Given the description of an element on the screen output the (x, y) to click on. 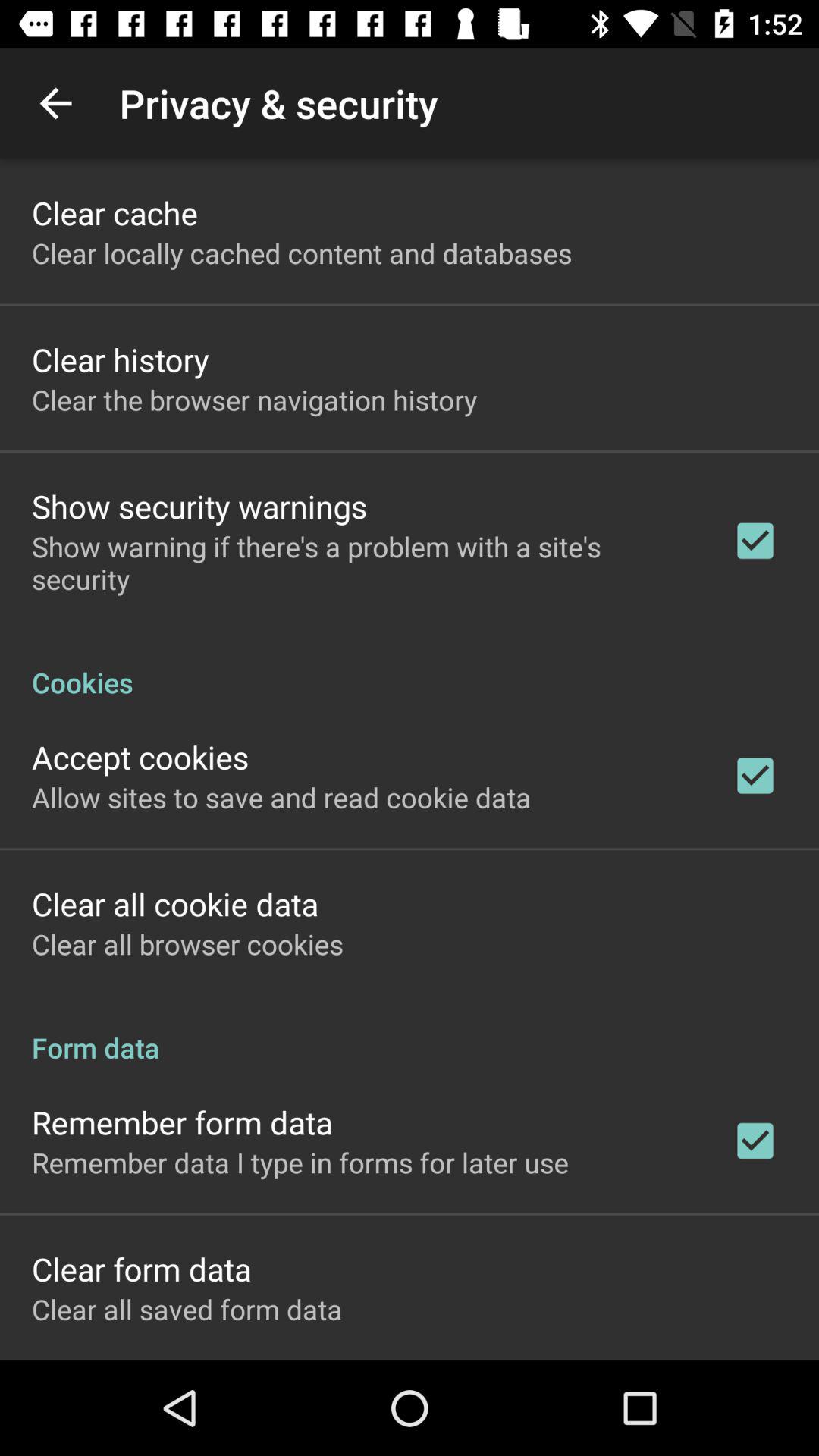
tap the app below cookies app (140, 756)
